Given the description of an element on the screen output the (x, y) to click on. 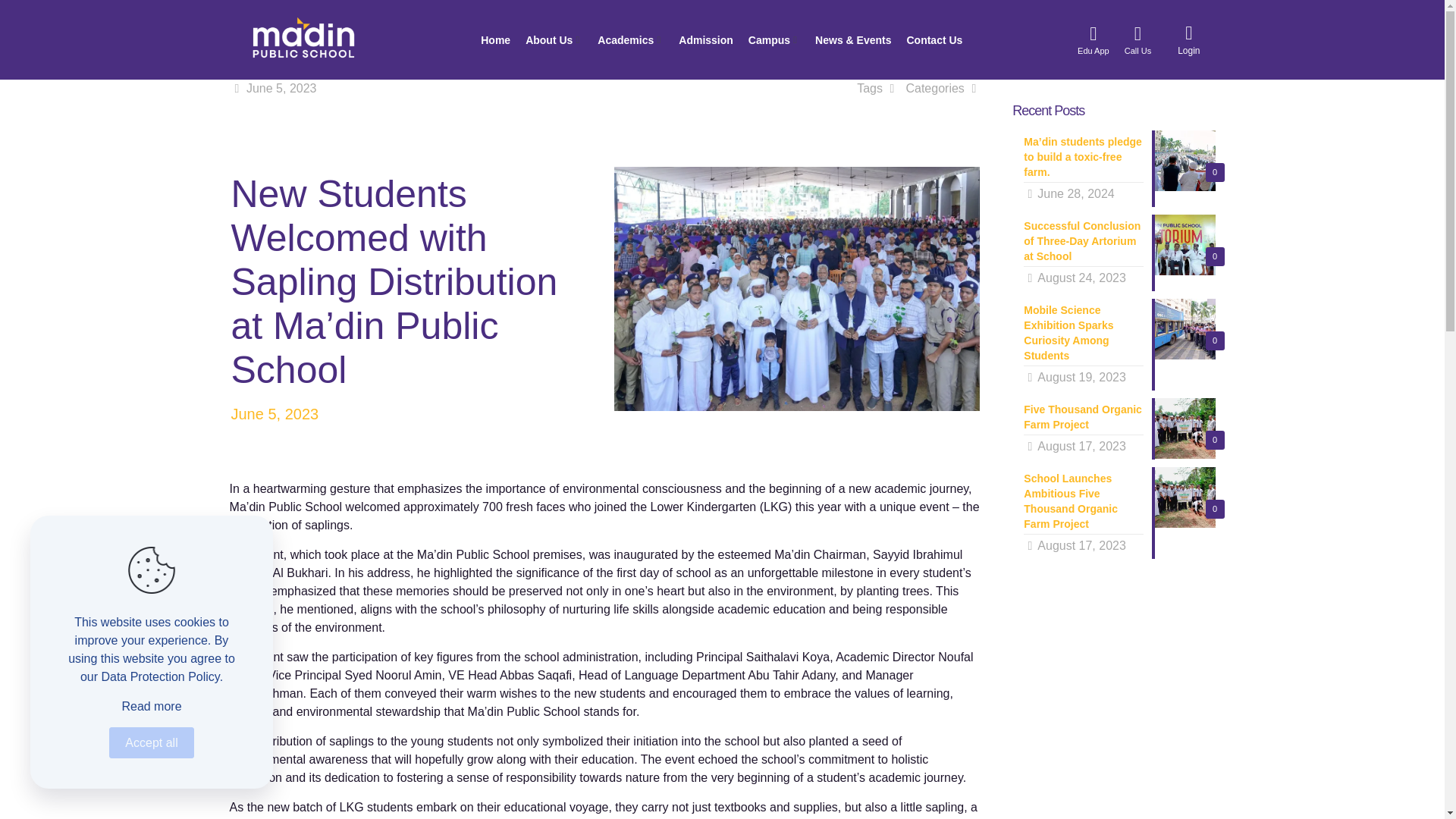
Ma'din EDU Application (1093, 39)
Campus (773, 39)
Academics (630, 39)
Admission (705, 39)
About Us (553, 39)
Home (495, 39)
